Given the description of an element on the screen output the (x, y) to click on. 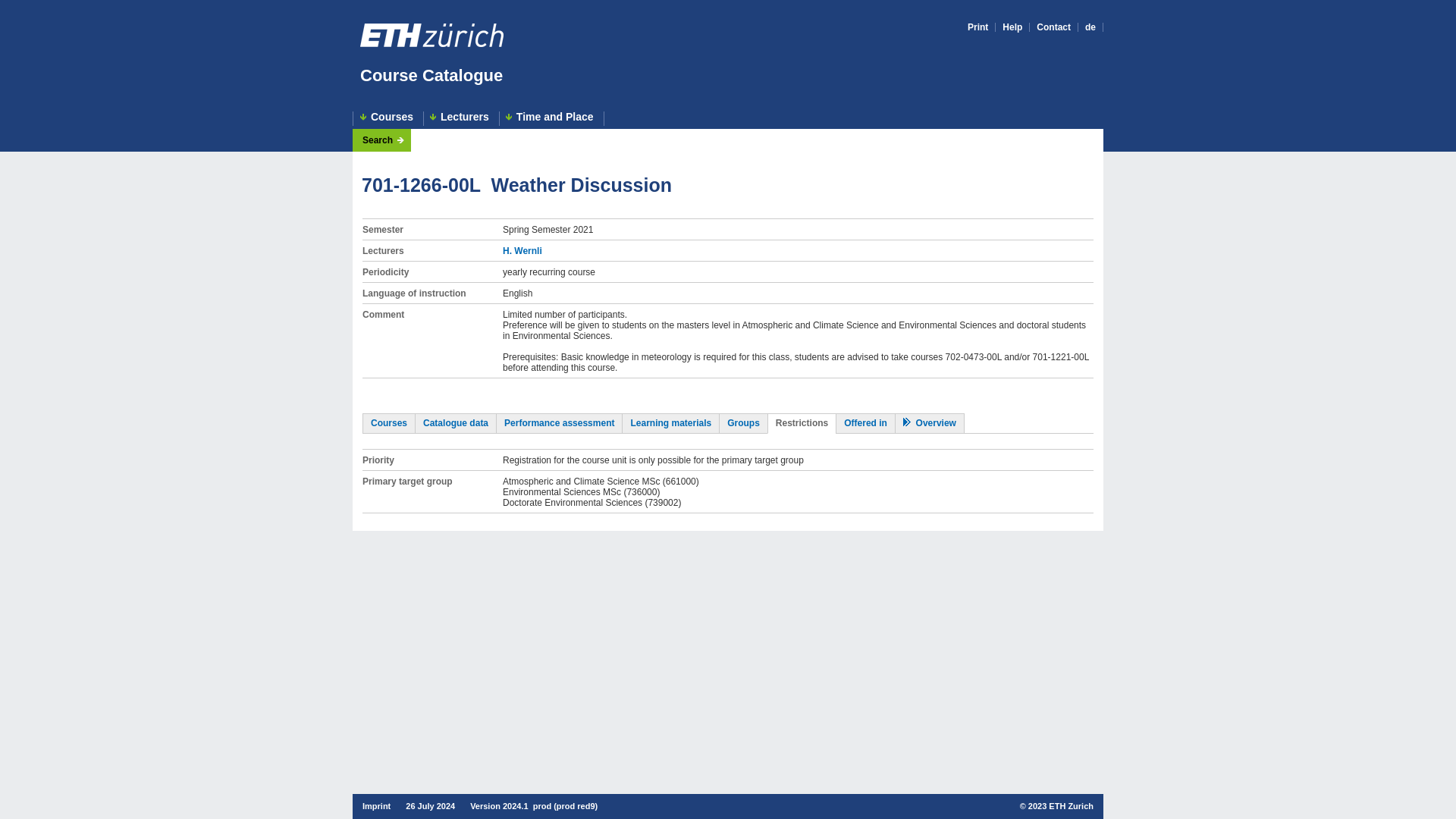
Course Catalogue (430, 75)
Performance assessment (558, 422)
Time and Place (551, 118)
H. Wernli (521, 250)
Catalogue data (455, 422)
Contact (1053, 26)
Learning materials (670, 422)
  Overview (929, 422)
Imprint (376, 805)
Help (1012, 26)
Search (383, 139)
Print (978, 26)
de (1090, 26)
Offered in (865, 422)
Groups (743, 422)
